Given the description of an element on the screen output the (x, y) to click on. 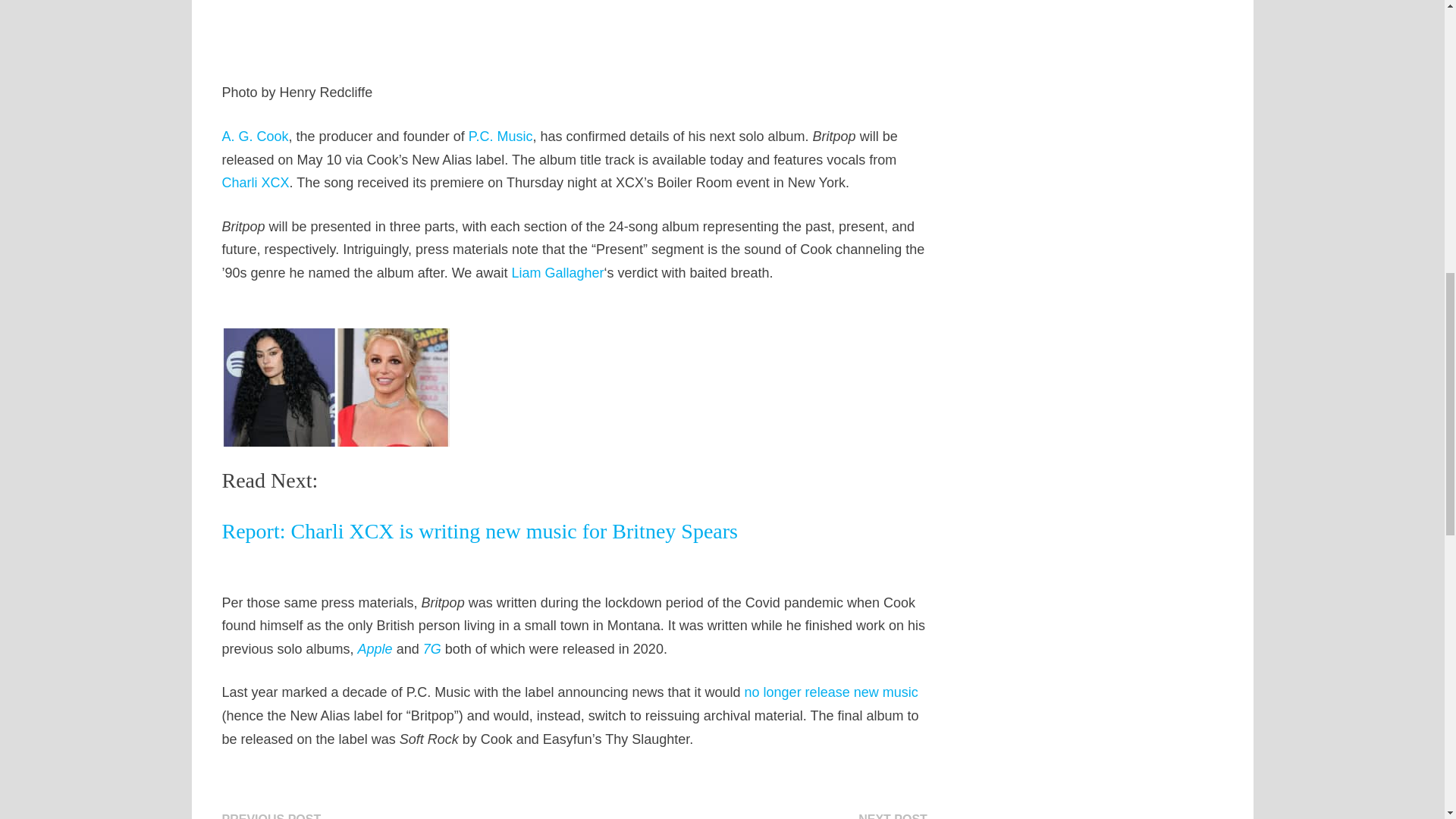
no longer release new music (831, 692)
Charli XCX (254, 182)
Liam Gallagher (557, 272)
A. G. Cook (254, 136)
7G (432, 648)
Report: Charli XCX is writing new music for Britney Spears (478, 543)
Apple (375, 648)
P.C. Music (500, 136)
